Given the description of an element on the screen output the (x, y) to click on. 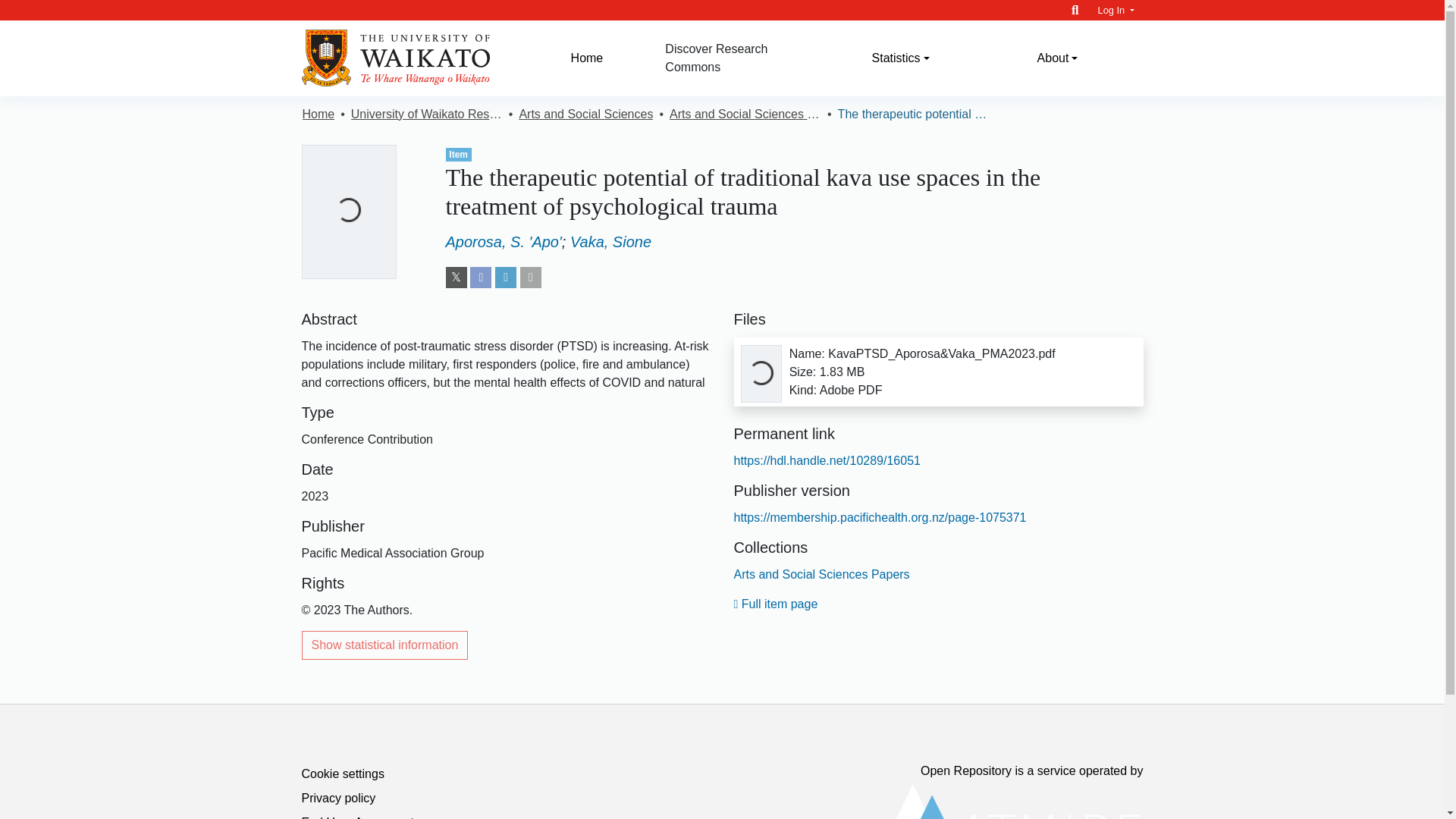
Arts and Social Sciences Papers (745, 114)
Privacy policy (338, 797)
Log In (1115, 9)
Statistics (900, 58)
Arts and Social Sciences Papers (821, 574)
Show statistical information (384, 645)
About (1056, 58)
Home (317, 114)
University of Waikato Research (426, 114)
Vaka, Sione (610, 241)
Aporosa, S. 'Apo' (503, 241)
Full item page (775, 603)
Home (586, 58)
Cookie settings (342, 773)
Search (1075, 10)
